Given the description of an element on the screen output the (x, y) to click on. 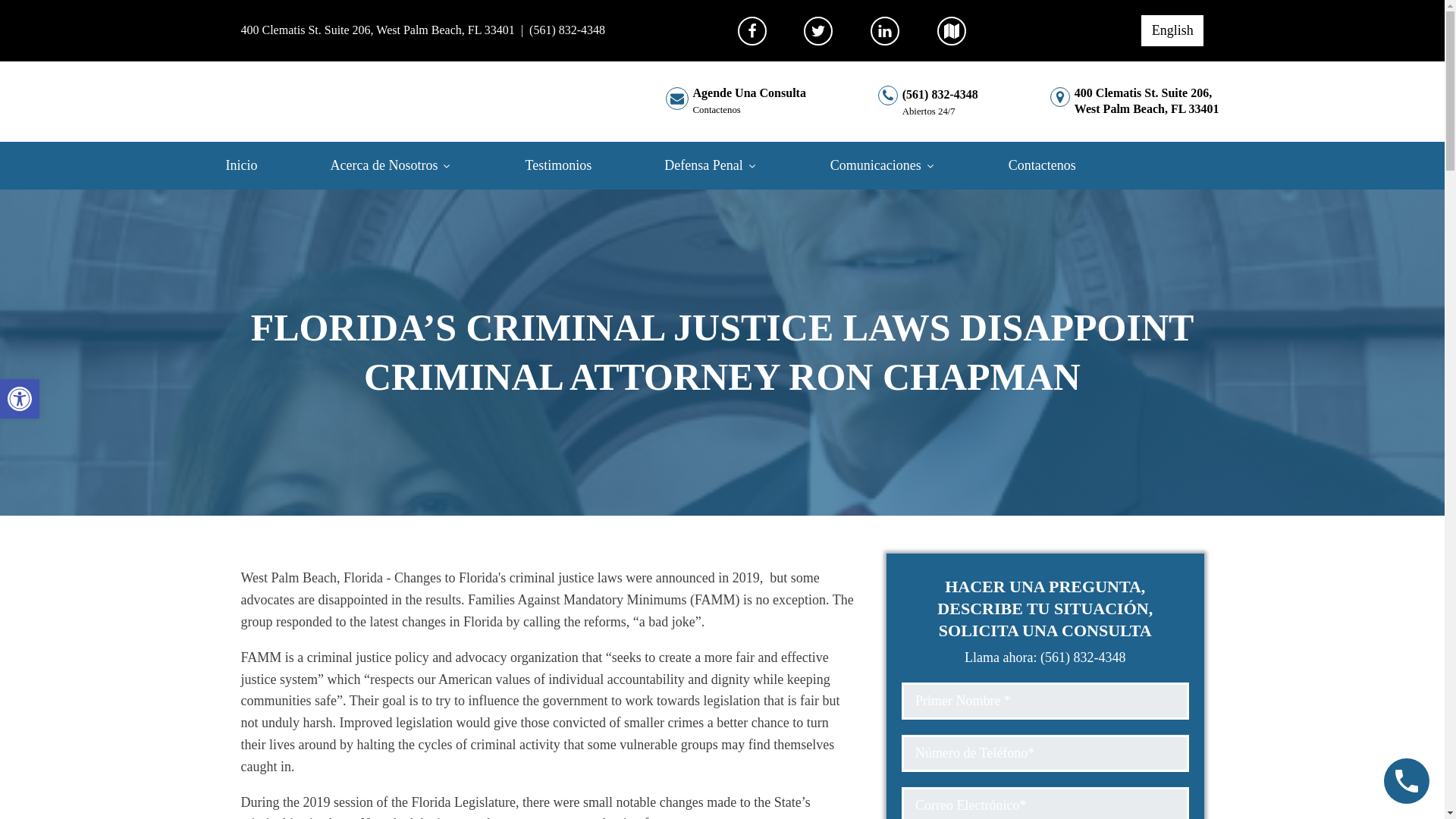
Testimonios (578, 165)
400 Clematis St. Suite 206, West Palm Beach, FL 33401 (735, 101)
Acerca de Nosotros (378, 29)
Accessibility Tools (412, 165)
Accessibility Tools (19, 398)
Defensa Penal (19, 398)
English (731, 165)
